Given the description of an element on the screen output the (x, y) to click on. 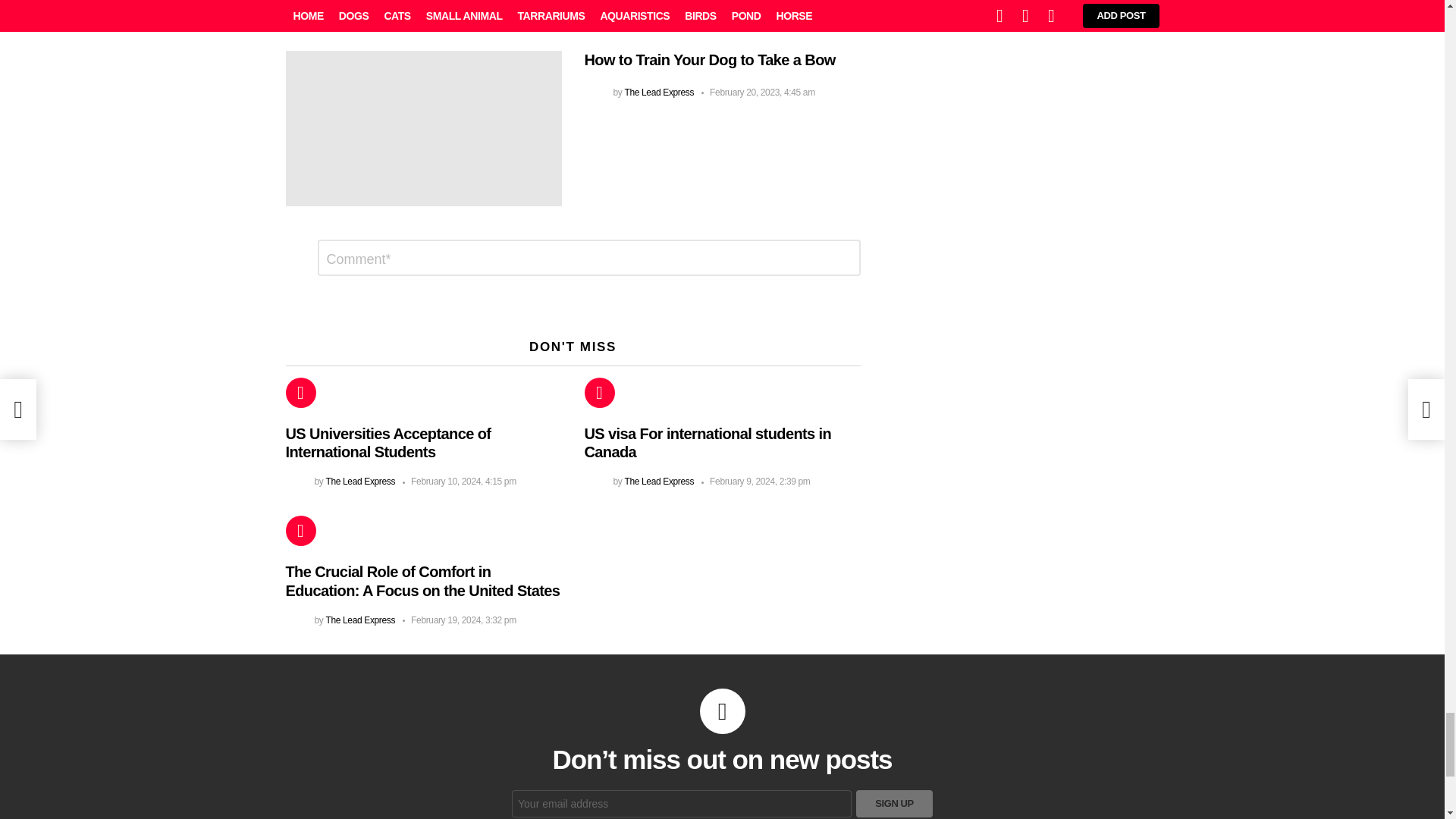
Sign up (894, 803)
